Given the description of an element on the screen output the (x, y) to click on. 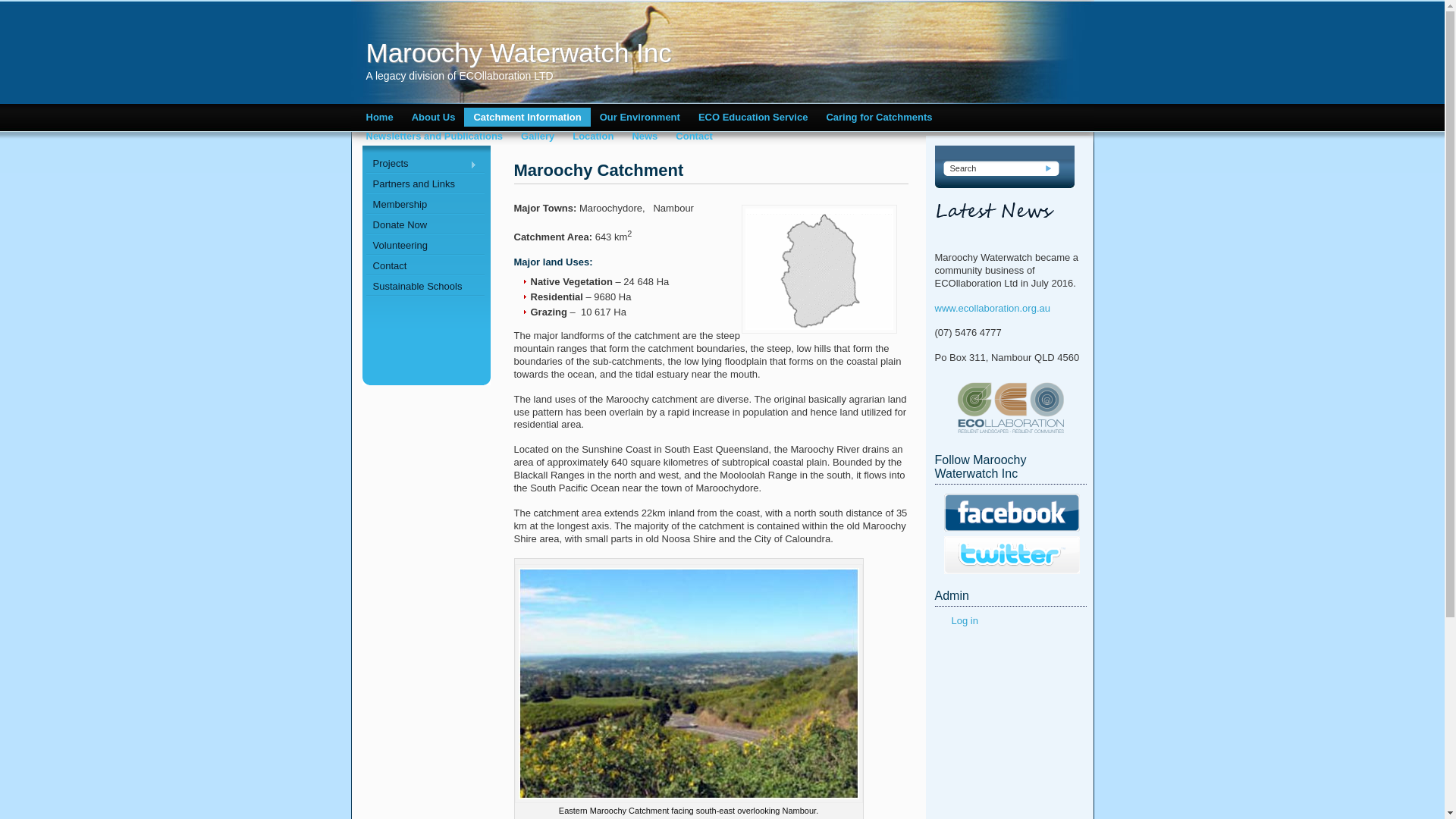
Our Environment Element type: text (639, 116)
Maroochy Catchment facing south-east overlooking Nambour Element type: hover (688, 683)
Gallery Element type: text (537, 135)
Partners and Links Element type: text (424, 183)
Search Element type: text (1049, 167)
Facebook Element type: text (1011, 512)
About Us Element type: text (433, 116)
Caring for Catchments Element type: text (878, 116)
Location Element type: text (592, 135)
Membership Element type: text (424, 204)
Sustainable Schools Element type: text (424, 286)
Maroochy Waterwatch Inc Element type: text (600, 52)
Newsletters and Publications Element type: text (433, 135)
Contact Element type: text (424, 265)
catchment map Element type: hover (819, 268)
Donate Now Element type: text (424, 224)
Log in Element type: text (963, 620)
Contact Element type: text (693, 135)
Volunteering Element type: text (424, 245)
www.ecollaboration.org.au Element type: text (991, 307)
ECO Education Service Element type: text (753, 116)
Twitter Element type: text (1011, 555)
Home Element type: text (378, 116)
Catchment Information Element type: text (526, 116)
News Element type: text (644, 135)
